Given the description of an element on the screen output the (x, y) to click on. 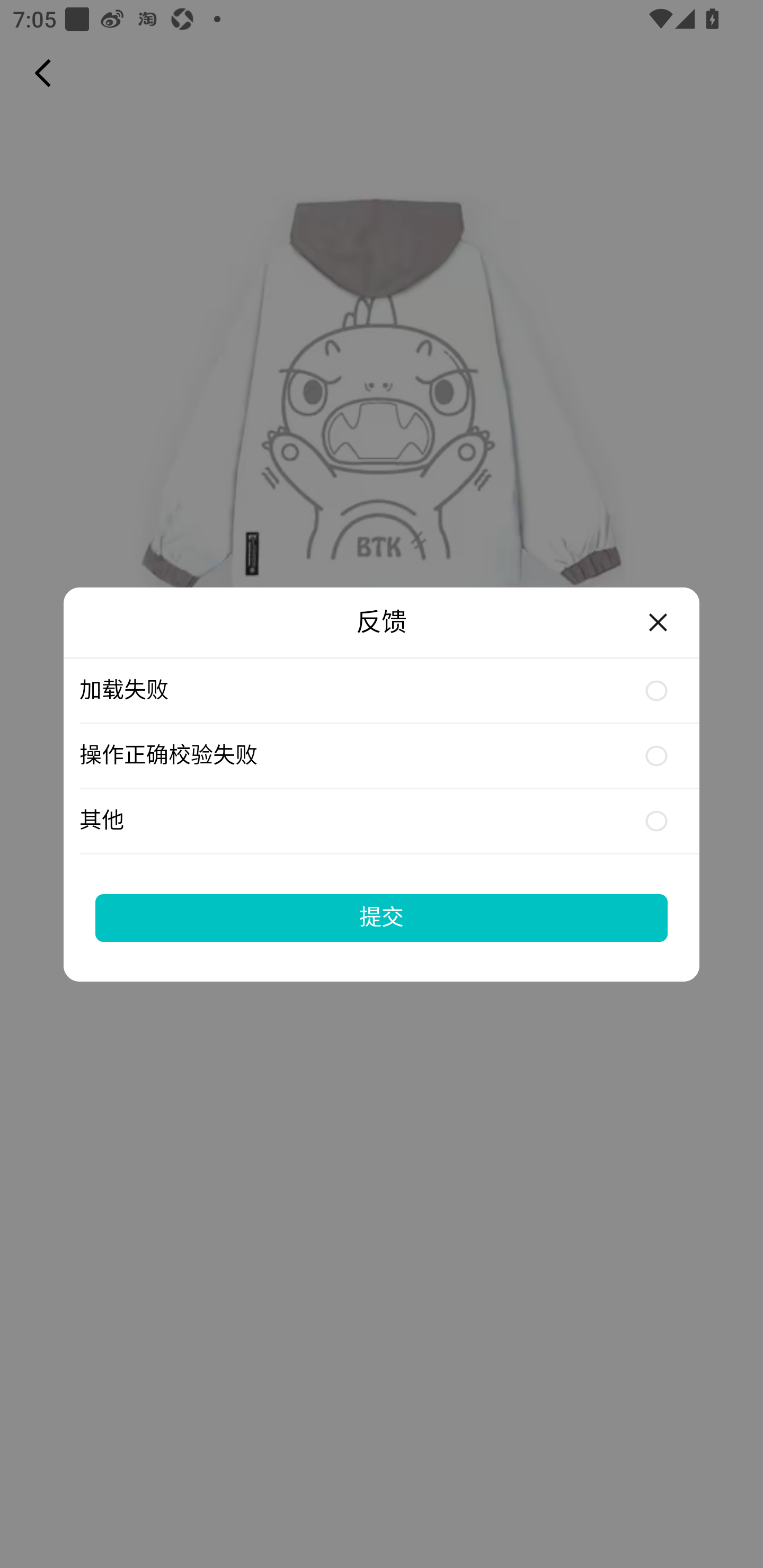
提交 (381, 917)
